Given the description of an element on the screen output the (x, y) to click on. 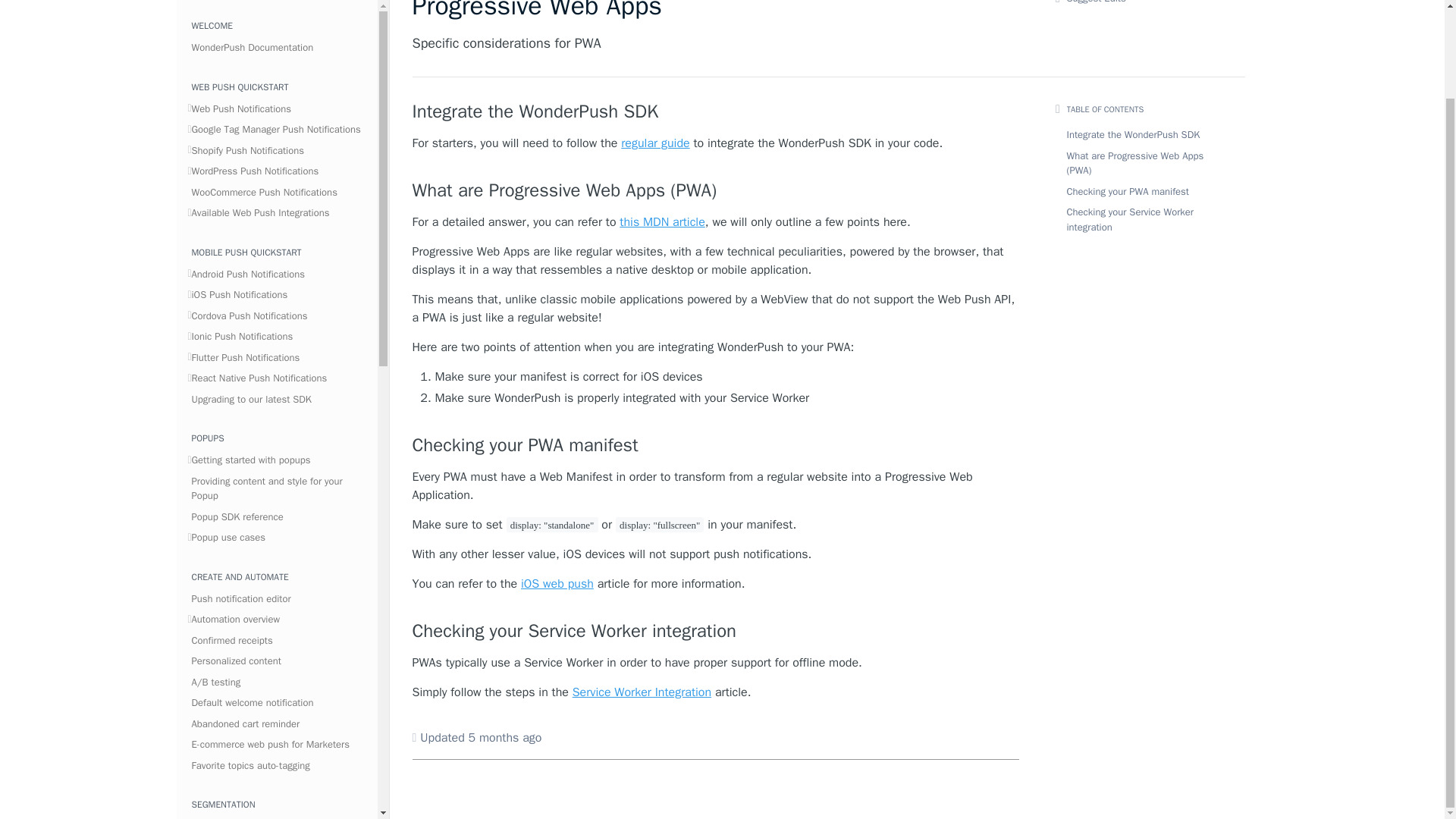
Shopify Push Notifications (277, 117)
Checking your Service Worker integration (715, 630)
Integrate the WonderPush SDK (715, 110)
Web Push Notifications (277, 76)
Google Tag Manager Push Notifications (277, 97)
Checking your PWA manifest (715, 445)
WonderPush Documentation (277, 15)
